Given the description of an element on the screen output the (x, y) to click on. 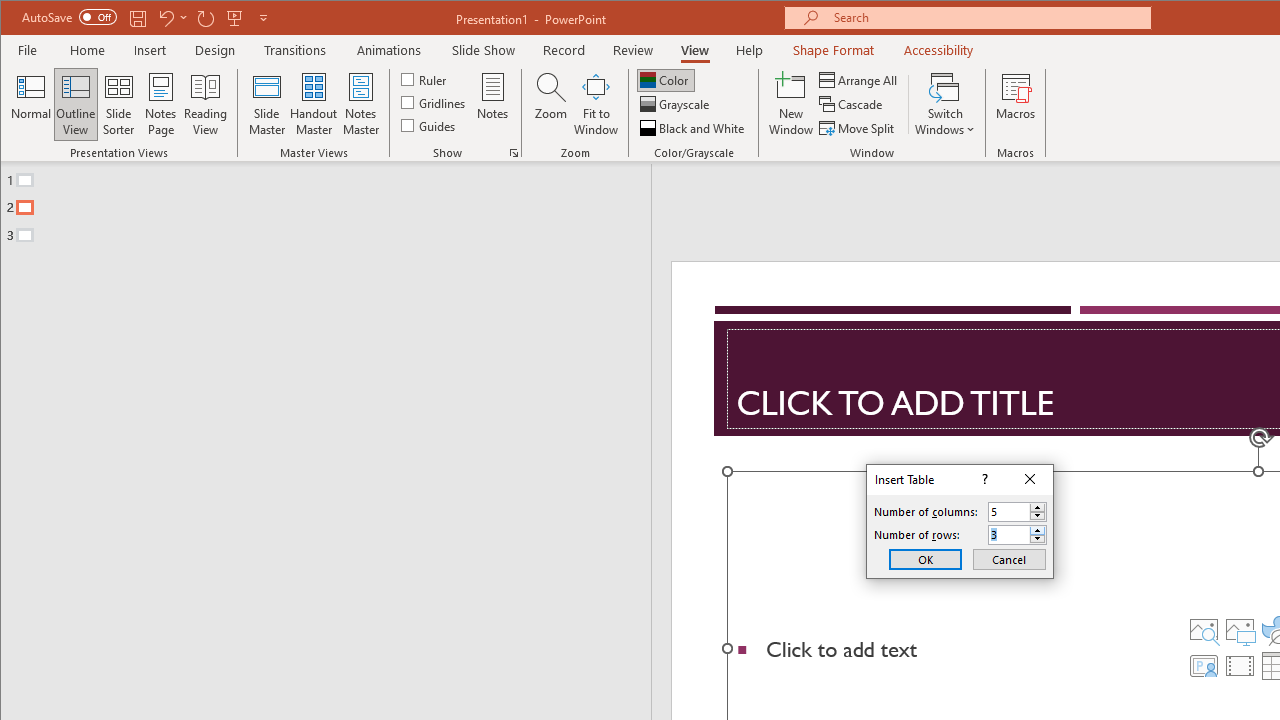
Gridlines (435, 101)
Grid Settings... (513, 152)
Grayscale (676, 103)
Number of columns (1009, 512)
Outline View (75, 104)
Guides (430, 124)
